Given the description of an element on the screen output the (x, y) to click on. 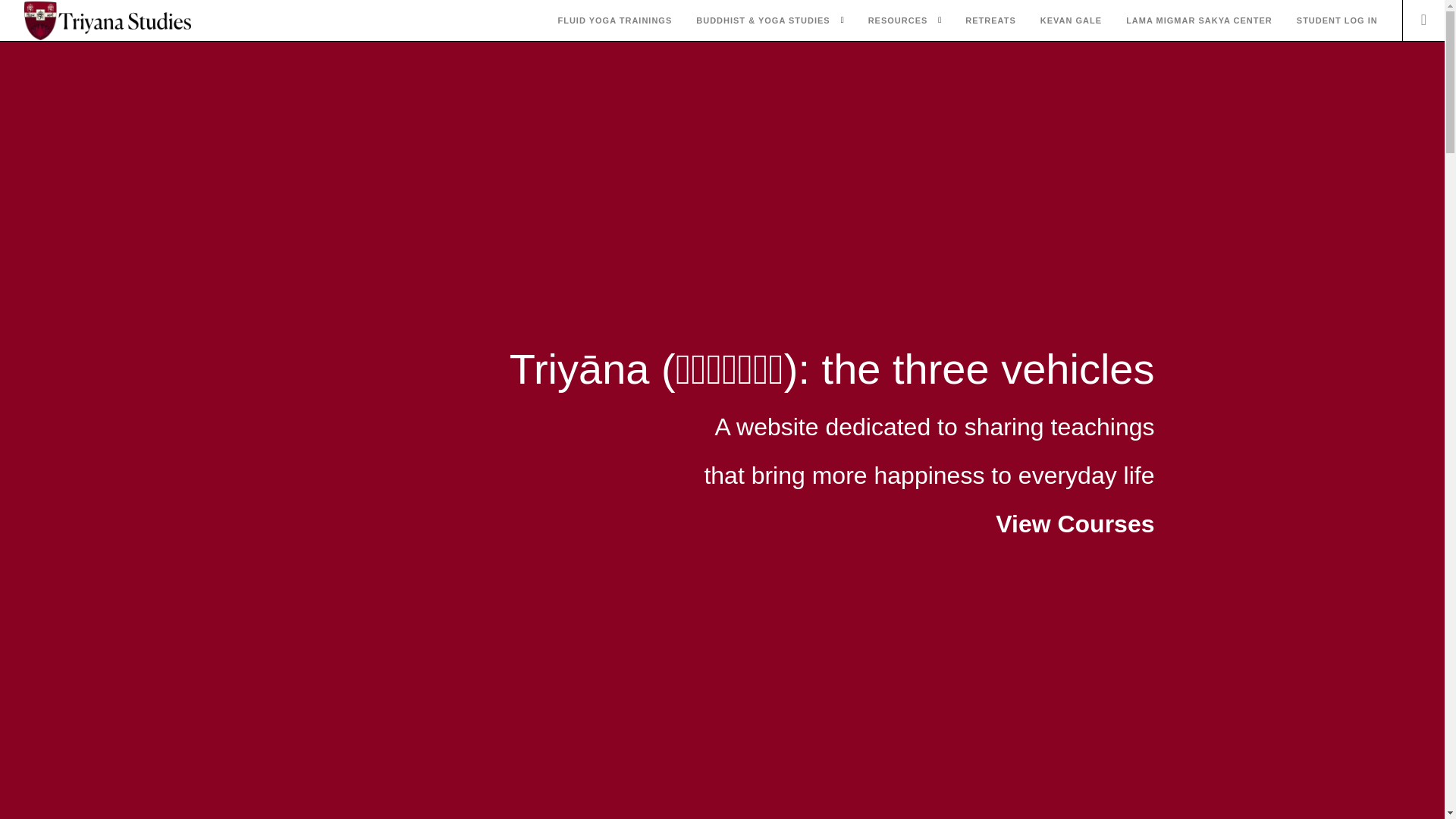
FLUID YOGA TRAININGS (614, 21)
View Courses (1074, 523)
RETREATS (989, 21)
STUDENT LOG IN (1337, 21)
LAMA MIGMAR SAKYA CENTER (1198, 21)
RESOURCES (897, 21)
KEVAN GALE (1071, 21)
